Given the description of an element on the screen output the (x, y) to click on. 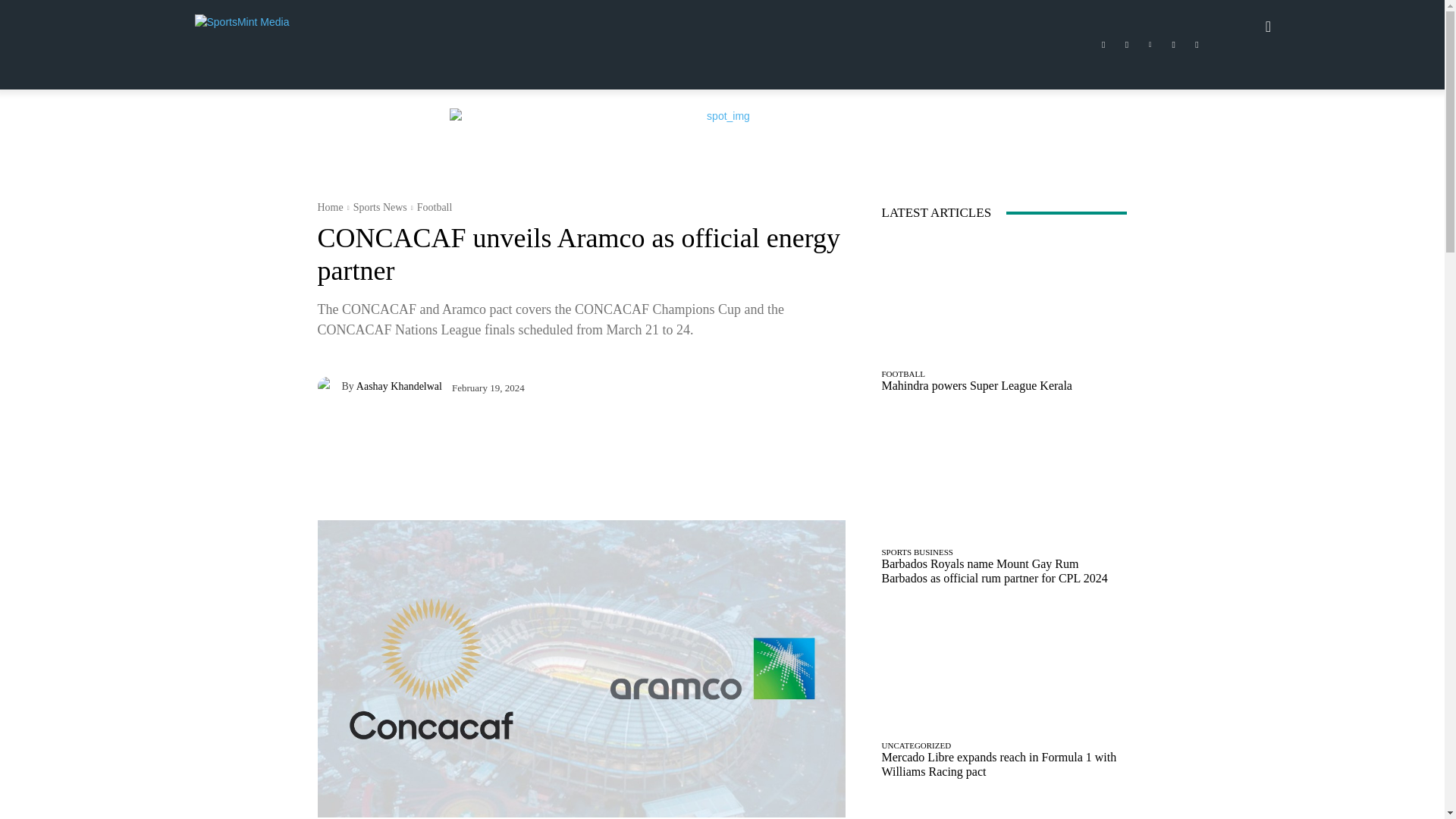
Linkedin (1149, 45)
SportsMint Media (257, 25)
Facebook (1103, 45)
Twitter (1173, 45)
Instagram (1126, 45)
SportsMint Media (302, 25)
